Given the description of an element on the screen output the (x, y) to click on. 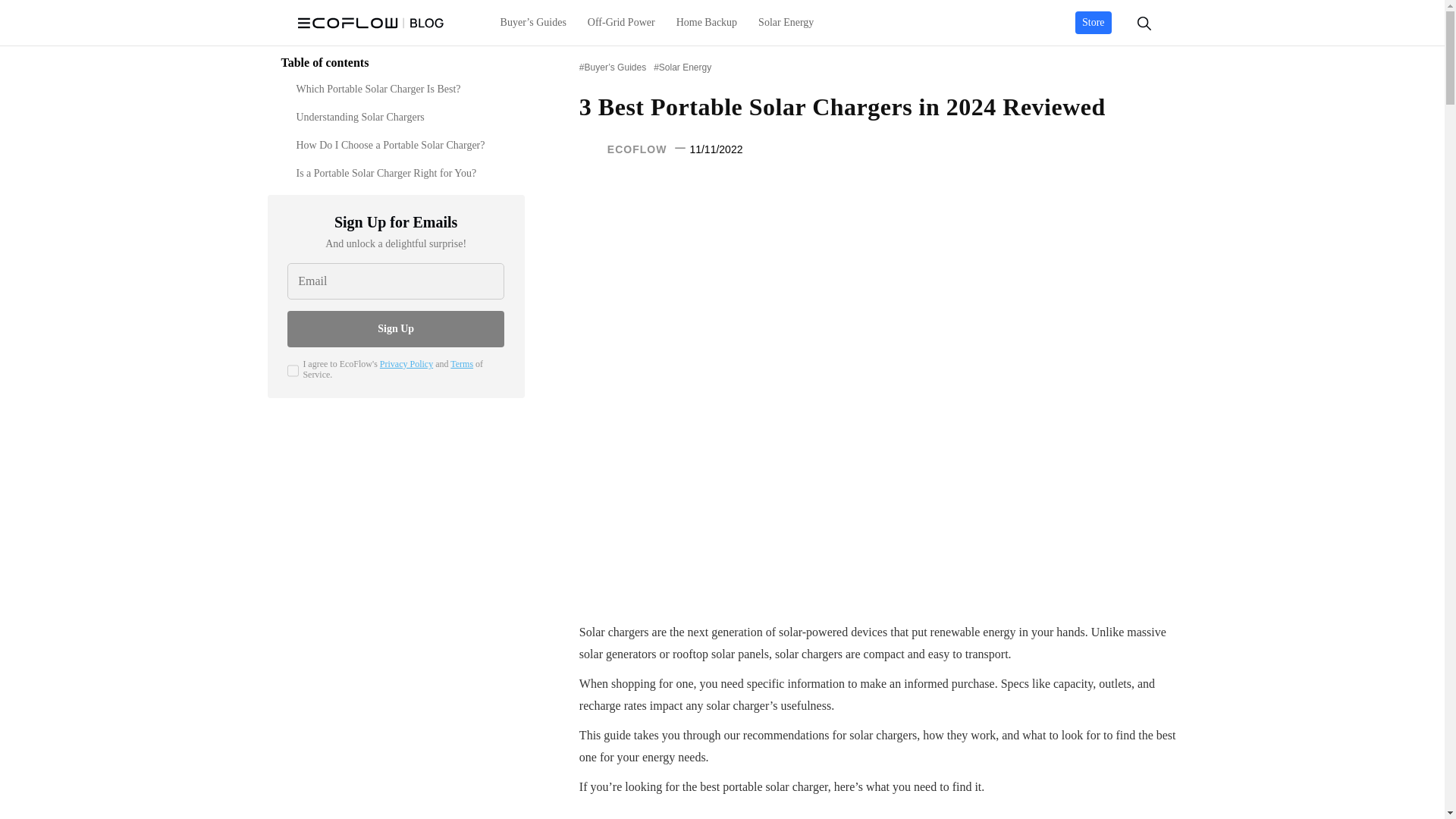
Sign Up (394, 329)
Home Backup (706, 22)
on (292, 370)
Off-Grid Power (620, 22)
Ecoflow Official Blog (370, 23)
